Given the description of an element on the screen output the (x, y) to click on. 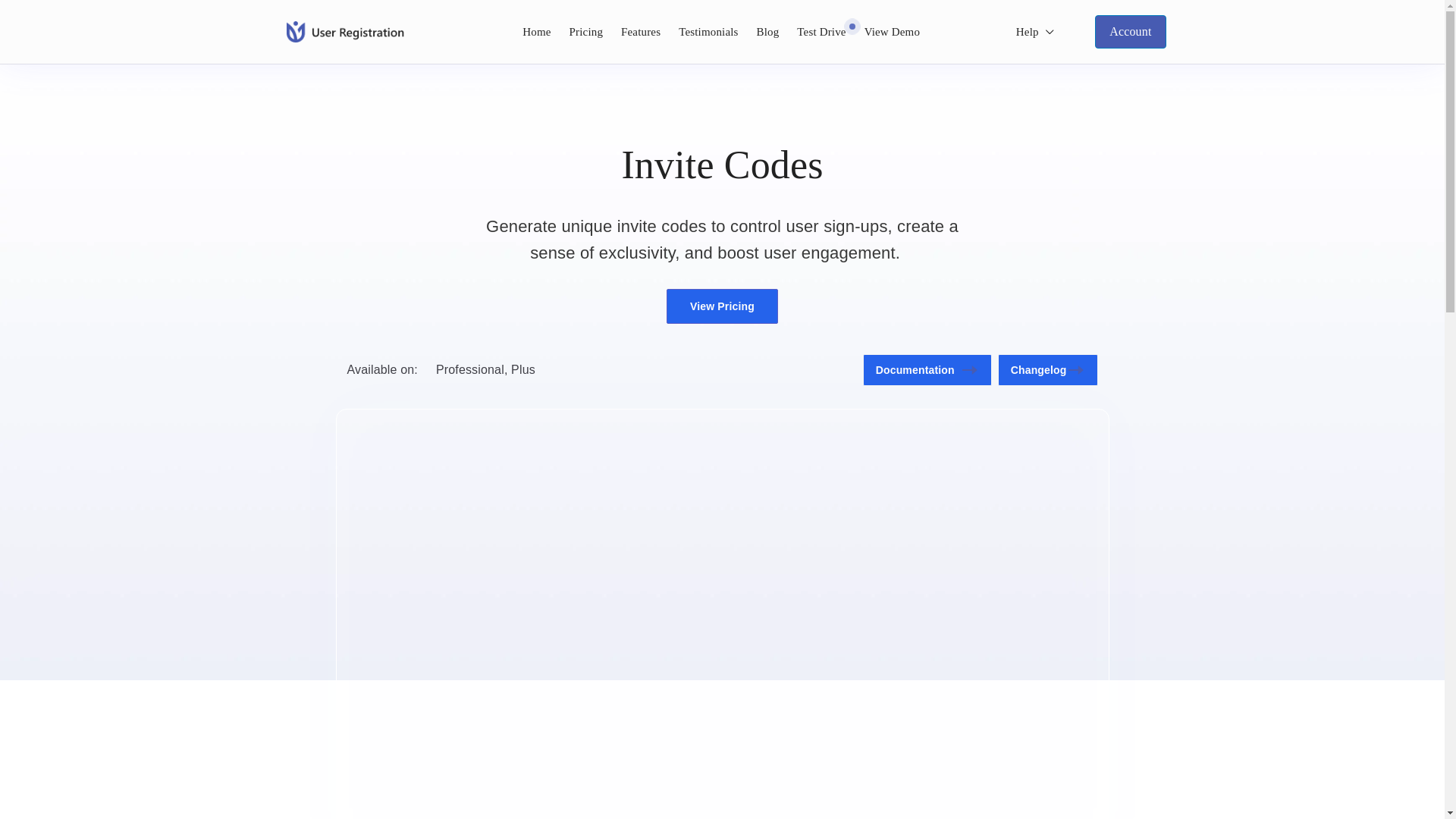
Test Drive (820, 31)
Pricing (585, 31)
Home (536, 31)
Changelog (1047, 369)
Help (1035, 31)
Account (1130, 31)
View Pricing (721, 306)
Blog (767, 31)
View Demo (892, 31)
Documentation (927, 369)
Testimonials (708, 31)
Features (641, 31)
